Given the description of an element on the screen output the (x, y) to click on. 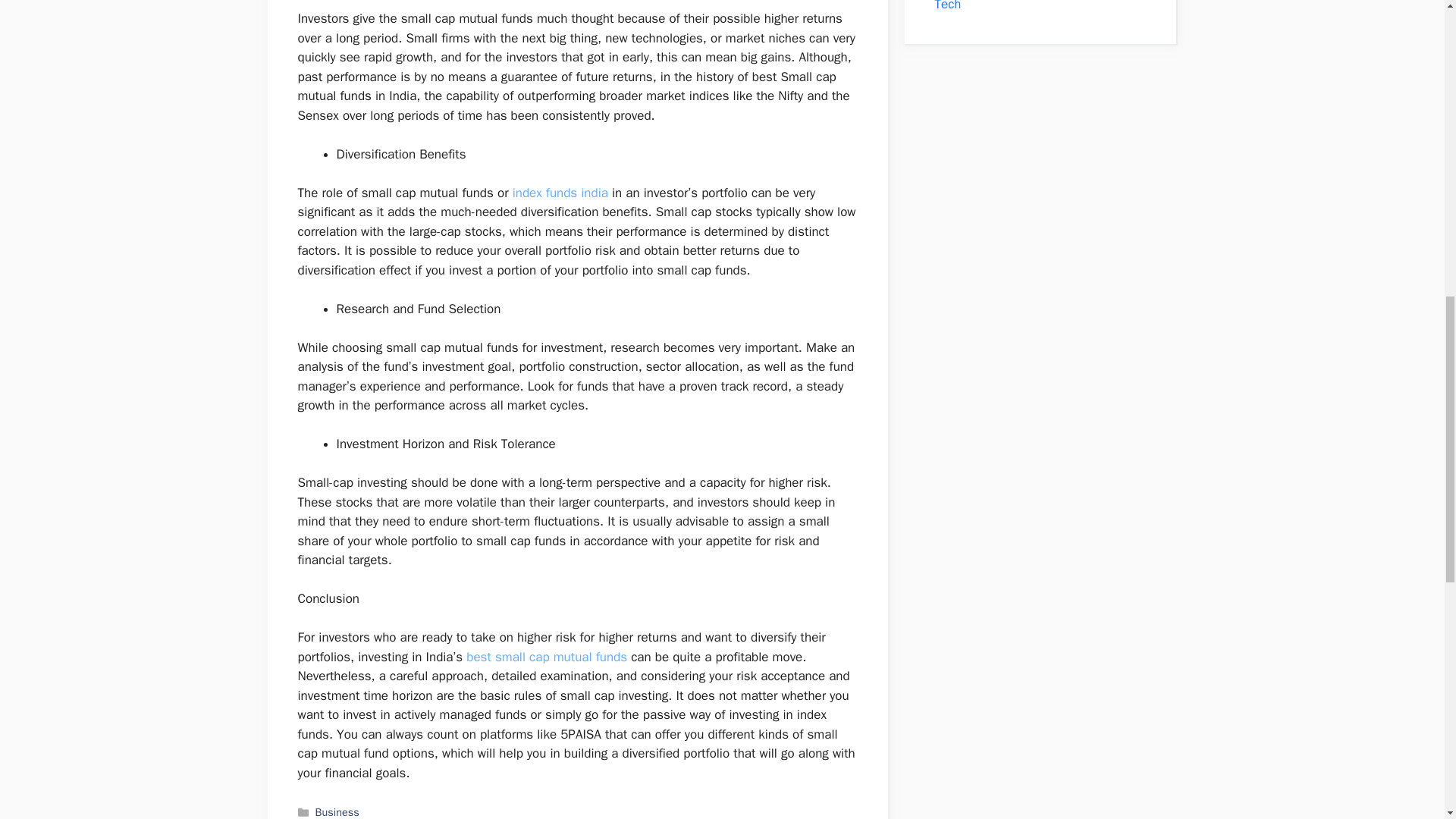
index funds india (560, 192)
best small cap mutual funds (546, 657)
Tech (947, 5)
Business (337, 812)
